Given the description of an element on the screen output the (x, y) to click on. 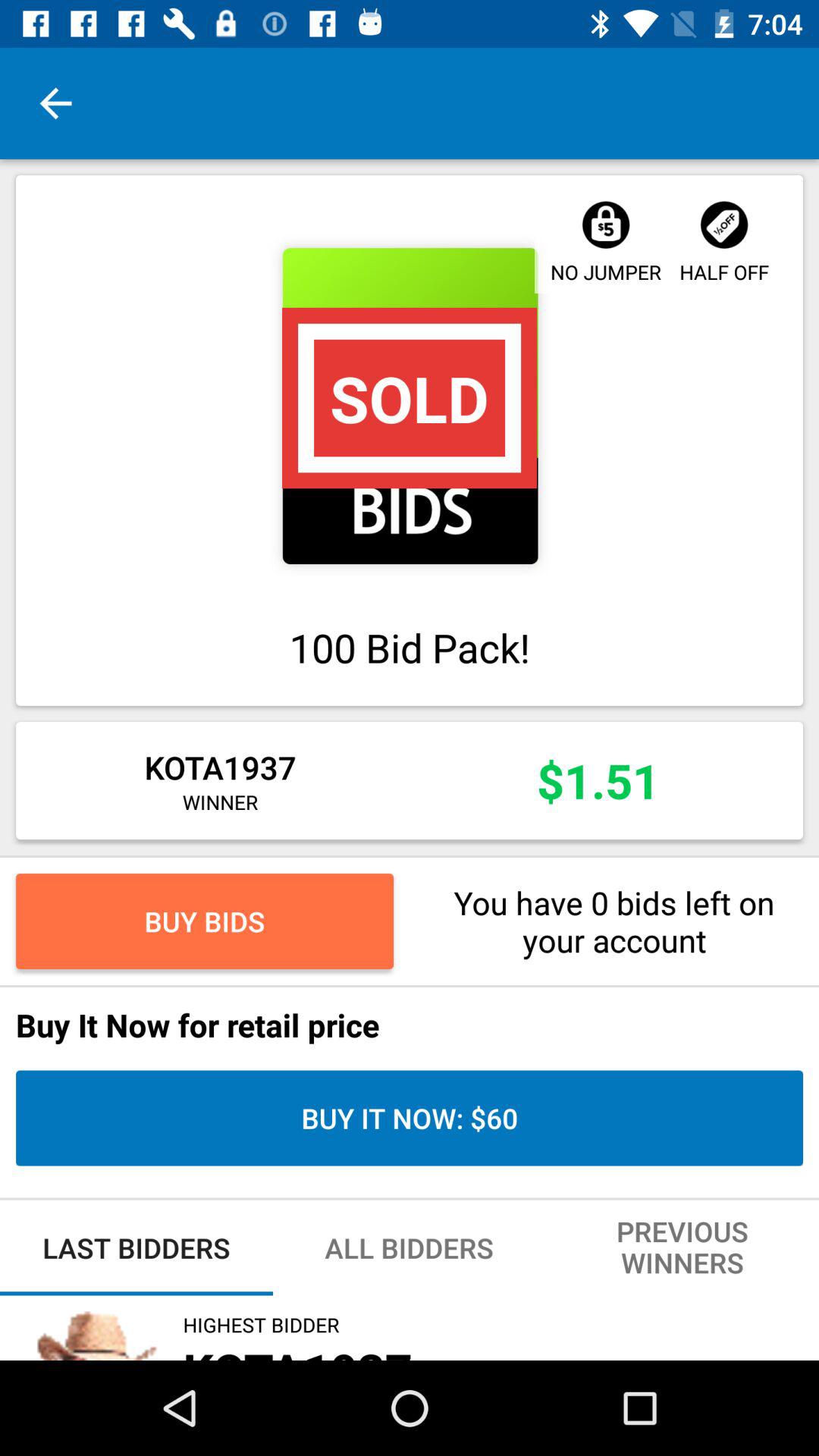
select image (409, 406)
